Given the description of an element on the screen output the (x, y) to click on. 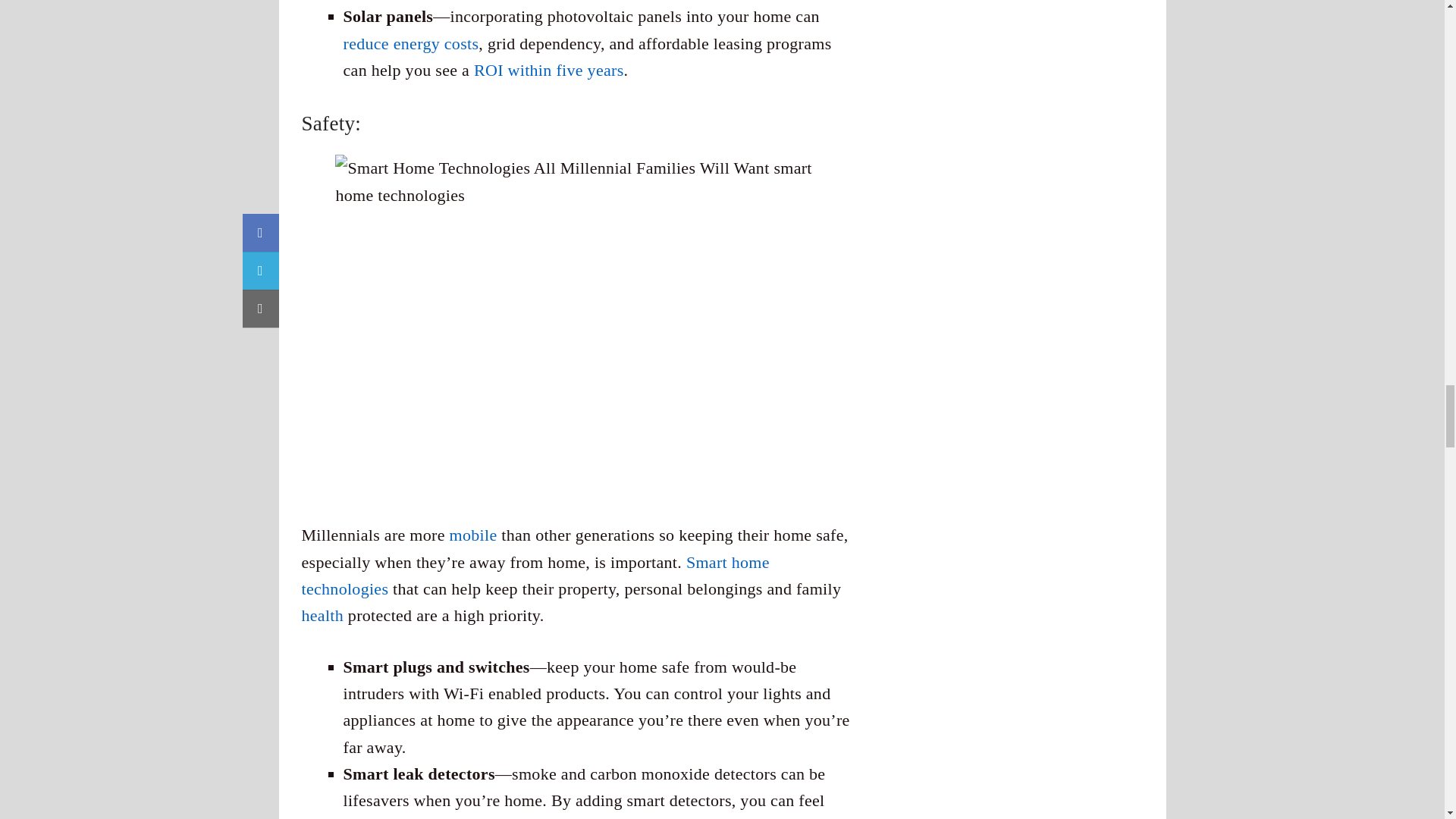
Smart home technologies (535, 575)
reduce energy costs (410, 43)
ROI within five years (549, 69)
mobile (473, 534)
